Given the description of an element on the screen output the (x, y) to click on. 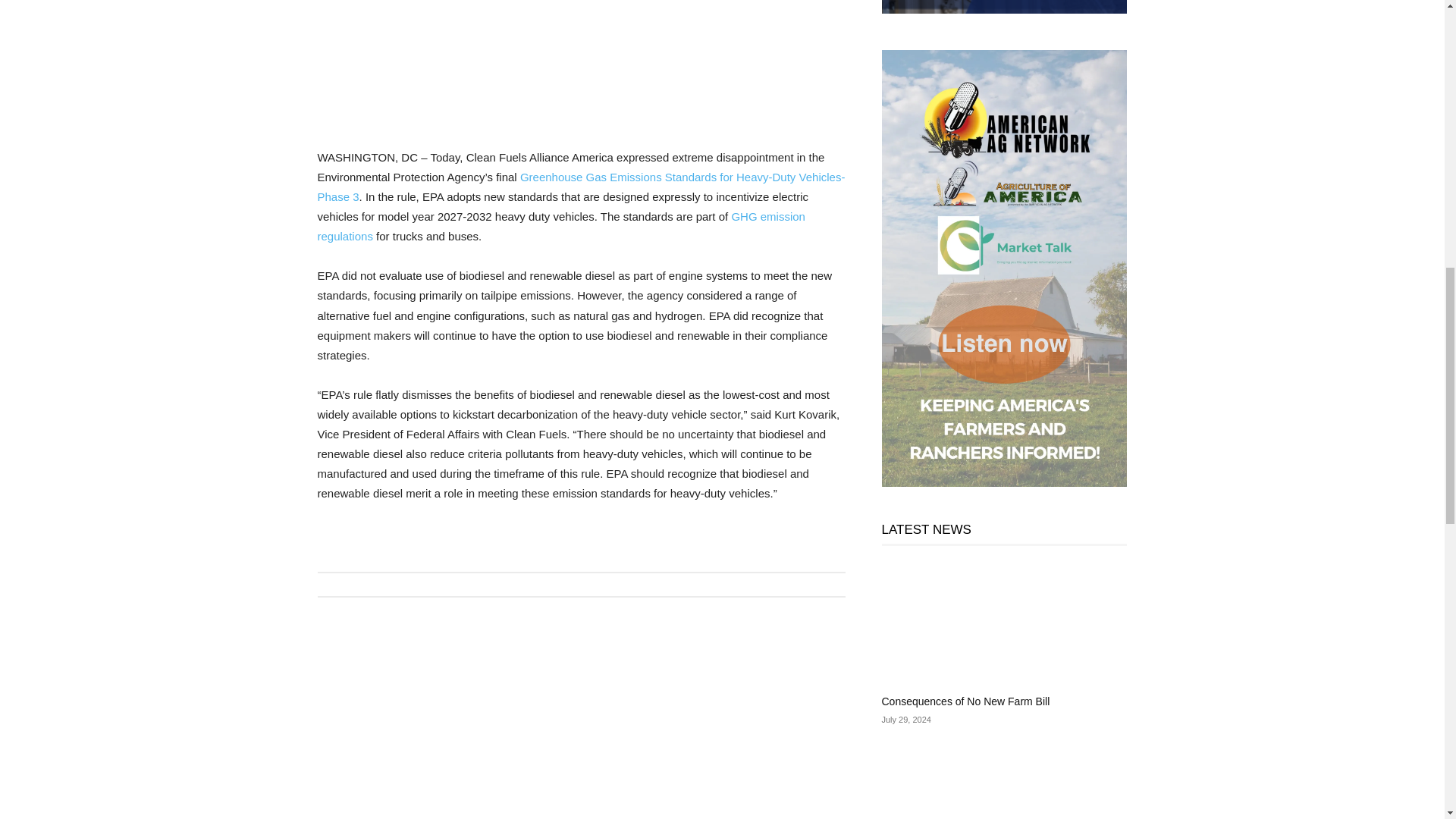
Consequences of No New Farm Bill (964, 701)
GHG Standards (580, 186)
GHG emission regulations (561, 225)
